Given the description of an element on the screen output the (x, y) to click on. 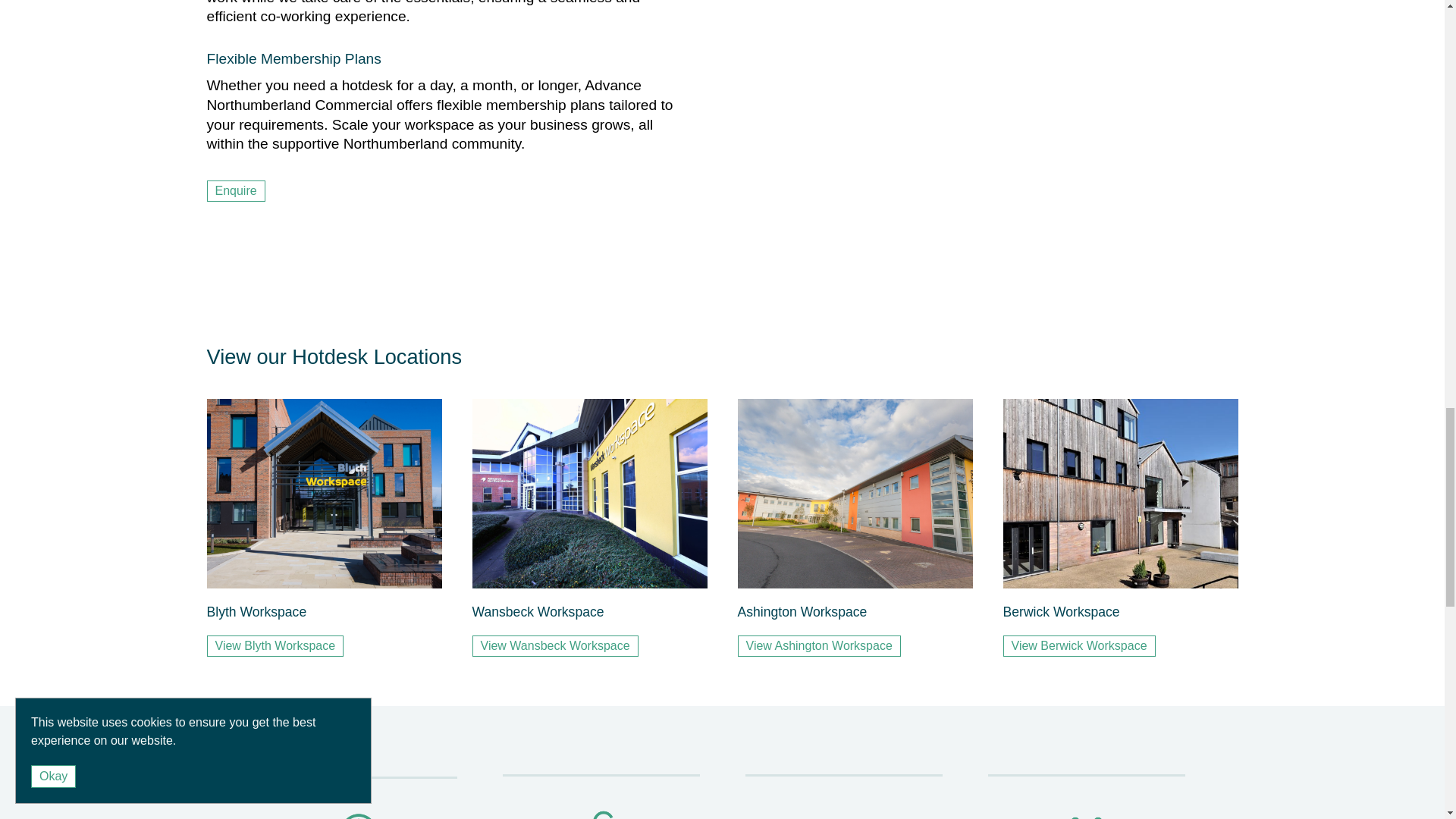
View Blyth Workspace (274, 645)
Enquire (235, 190)
View Wansbeck Workspace (554, 645)
View Berwick Workspace (1078, 645)
View Ashington Workspace (817, 645)
